Given the description of an element on the screen output the (x, y) to click on. 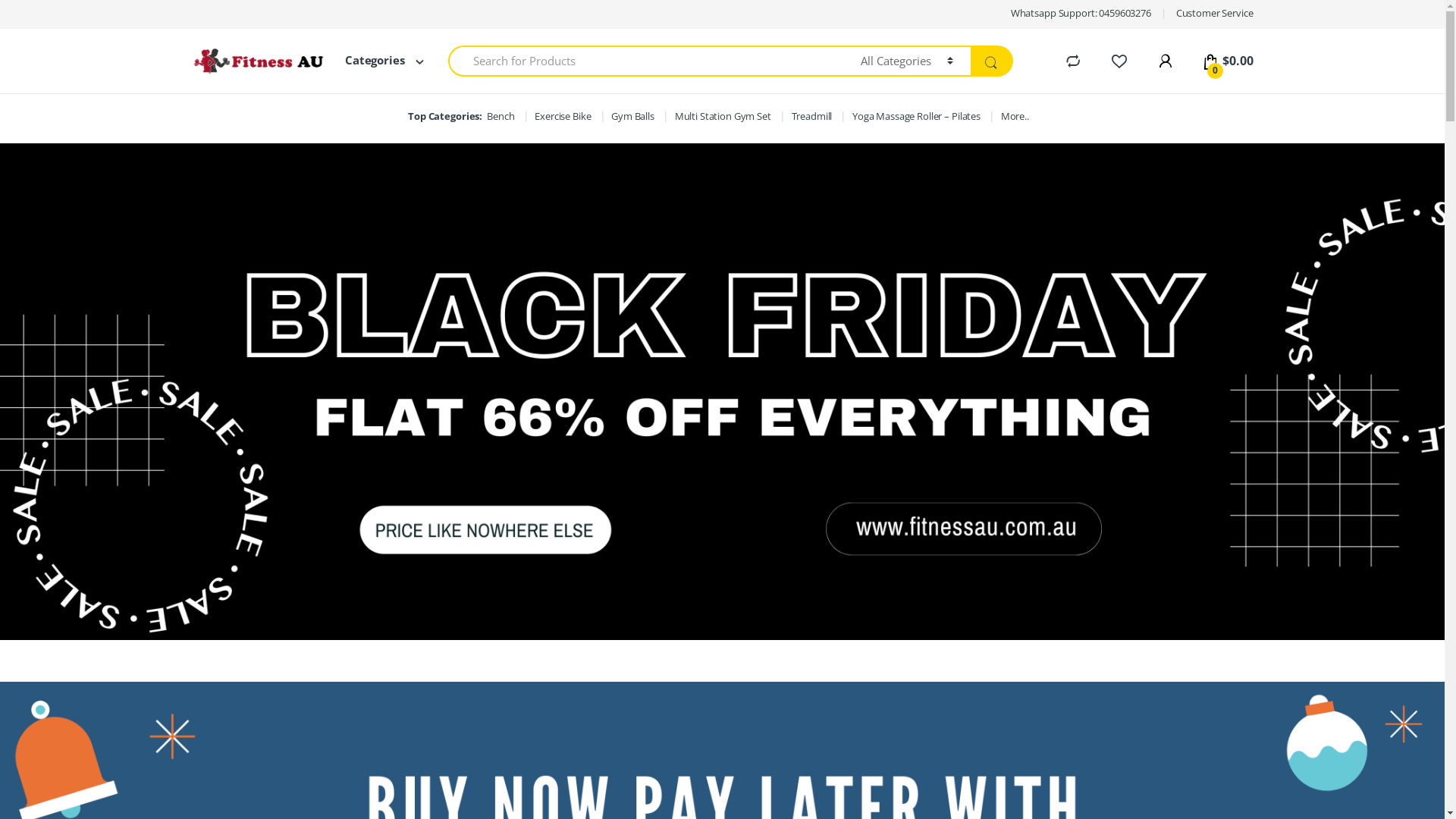
Categories Element type: text (375, 60)
Gym Balls Element type: text (632, 116)
More.. Element type: text (1015, 116)
Exercise Bike Element type: text (562, 116)
Treadmill Element type: text (811, 116)
Customer Service Element type: text (1214, 13)
Whatsapp Support: 0459603276 Element type: text (1080, 13)
0
$0.00 Element type: text (1226, 60)
fitn Element type: hover (722, 391)
Multi Station Gym Set Element type: text (722, 116)
Bench Element type: text (500, 116)
